Given the description of an element on the screen output the (x, y) to click on. 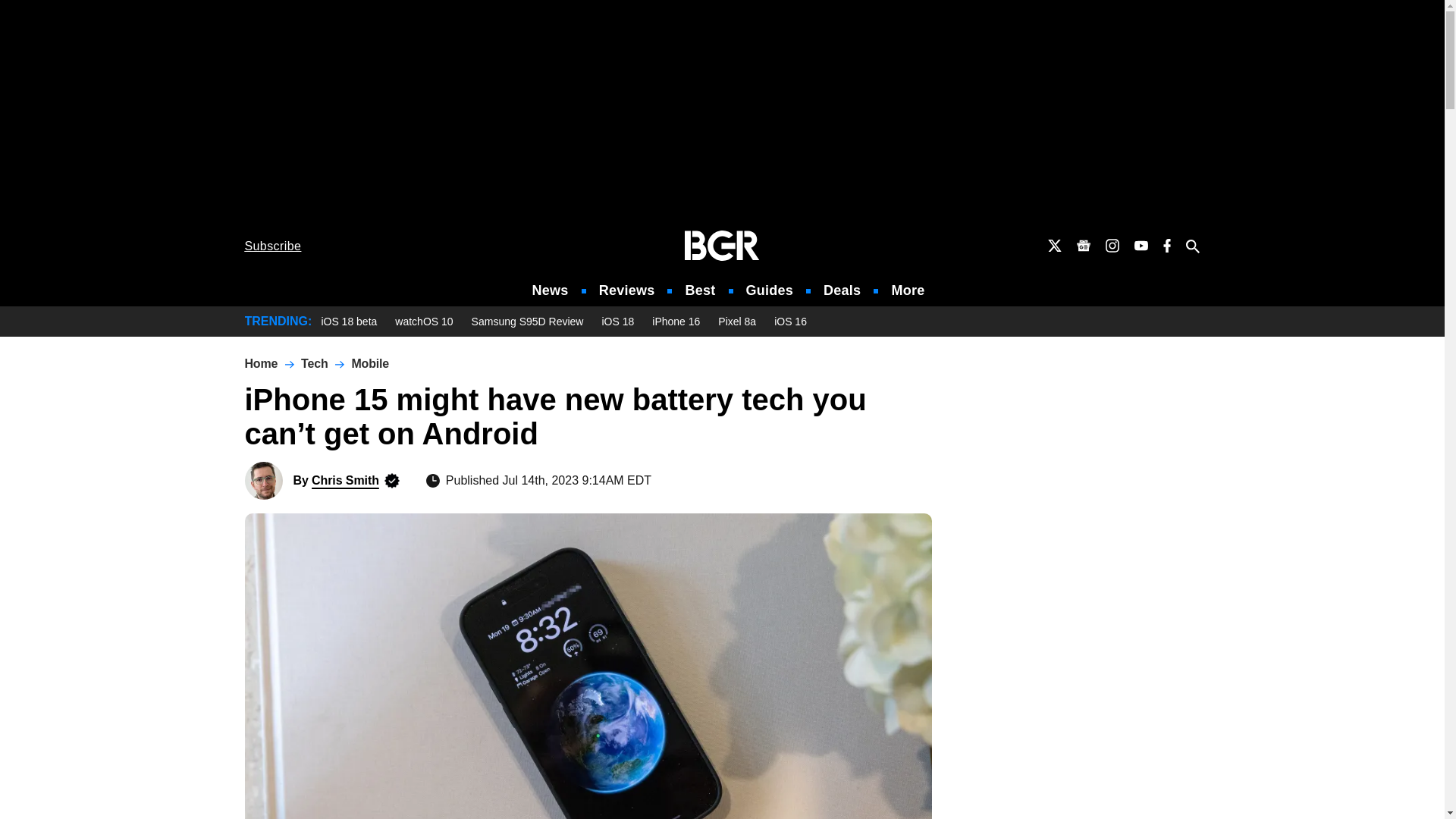
Best (699, 290)
Subscribe (272, 245)
More (907, 290)
Deals (842, 290)
Reviews (626, 290)
Guides (769, 290)
Posts by Chris Smith (344, 480)
News (550, 290)
